Given the description of an element on the screen output the (x, y) to click on. 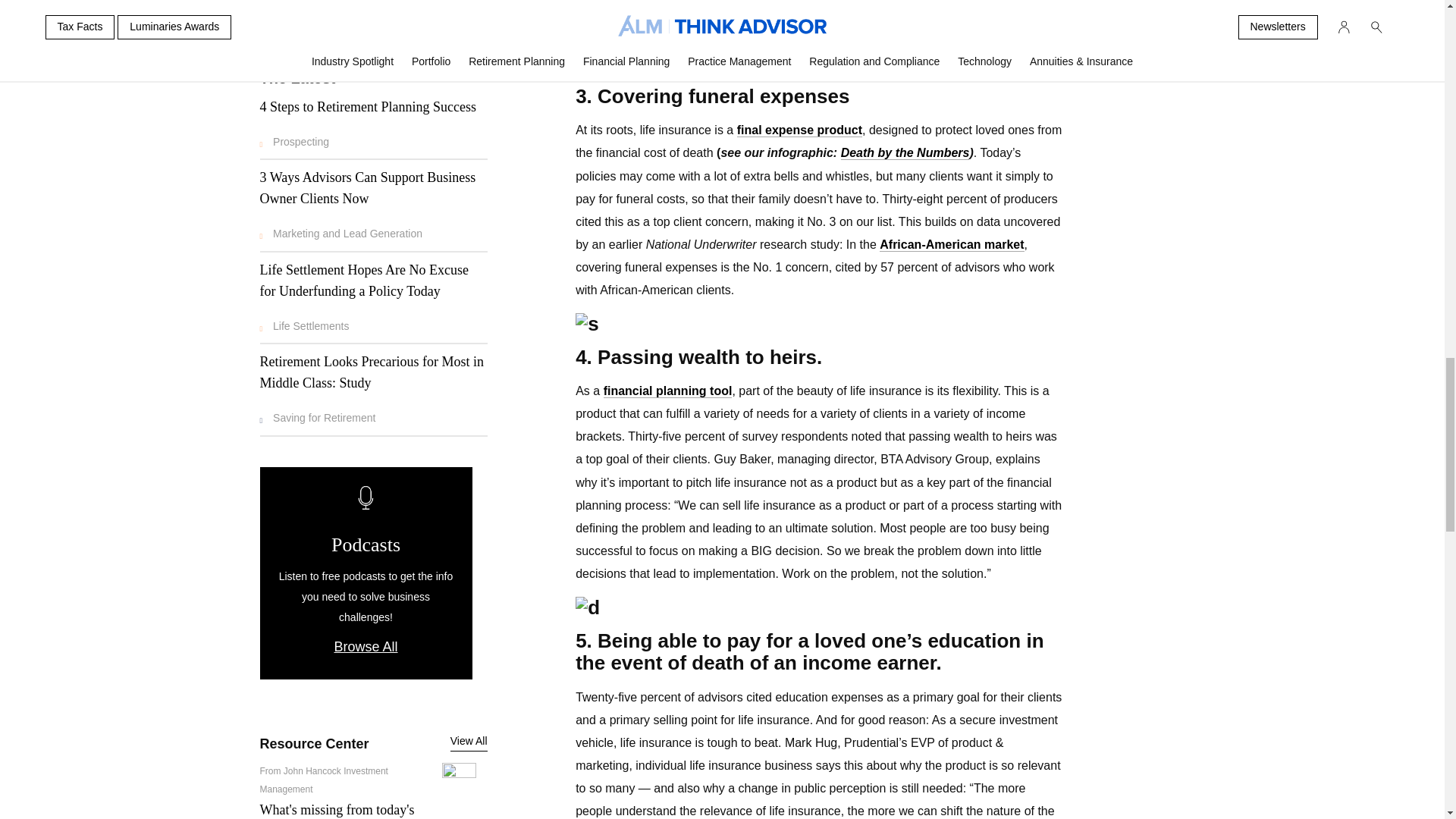
s (818, 323)
d (818, 608)
s (818, 63)
